Given the description of an element on the screen output the (x, y) to click on. 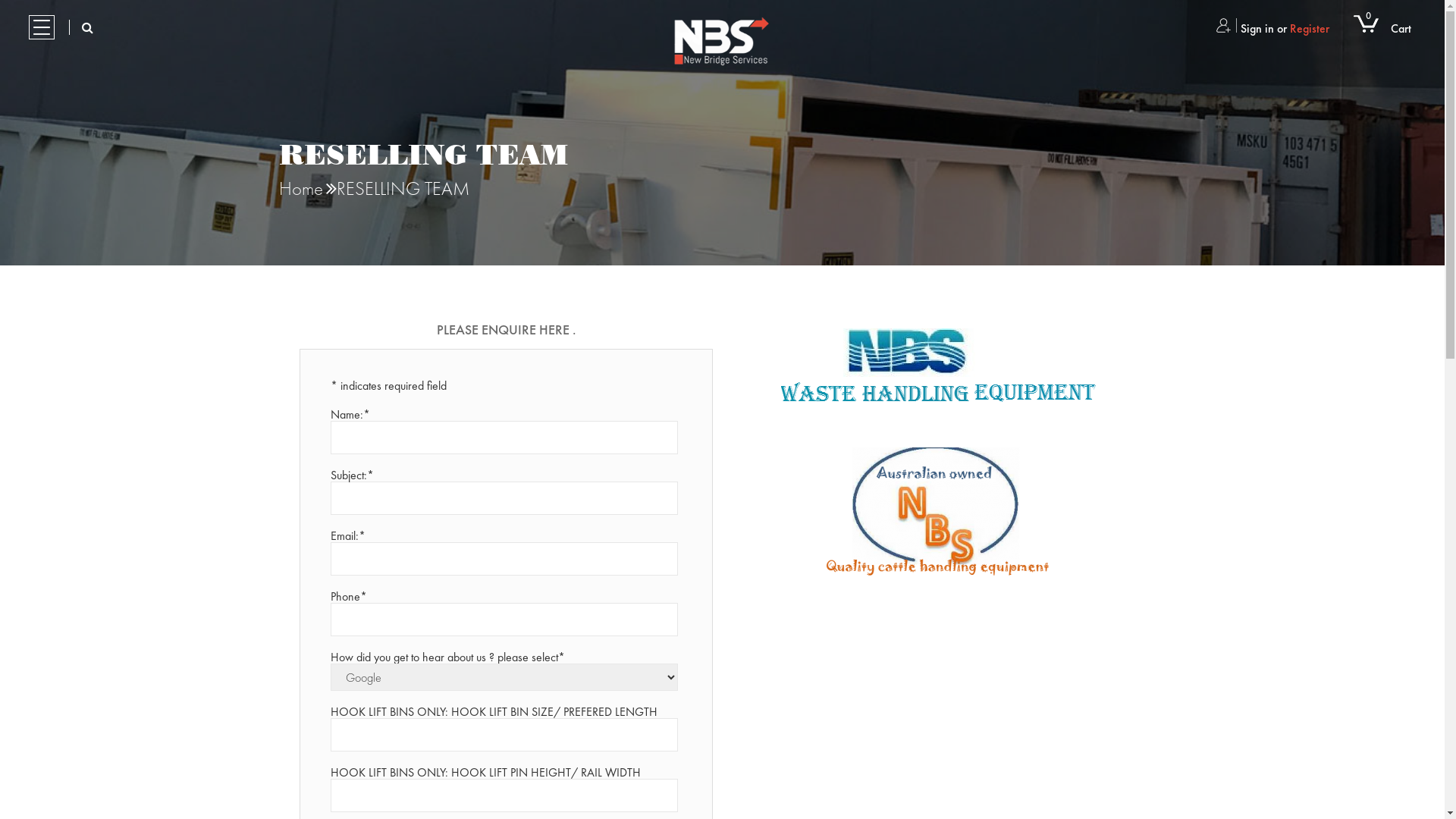
0
Cart Element type: text (1382, 28)
Sign in or Register Element type: text (1272, 28)
Home Element type: text (301, 187)
